Given the description of an element on the screen output the (x, y) to click on. 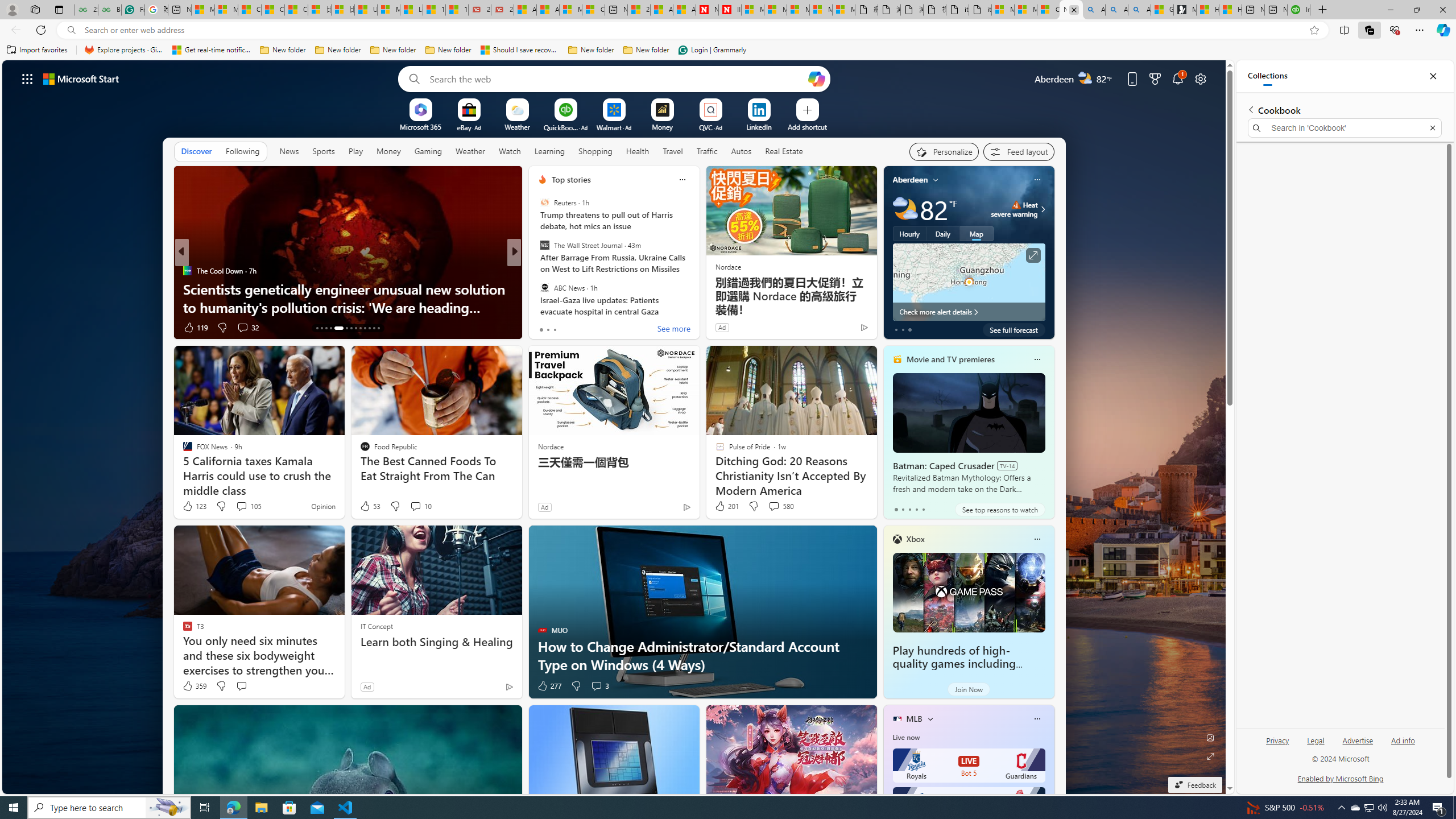
Learn both Singing & Healing (435, 641)
Edit Background (1210, 737)
Consumer Health Data Privacy Policy (1048, 9)
See full forecast (1013, 329)
Feed settings (1018, 151)
Larger map  (968, 282)
IT Concept (376, 625)
Aberdeen (910, 179)
